Given the description of an element on the screen output the (x, y) to click on. 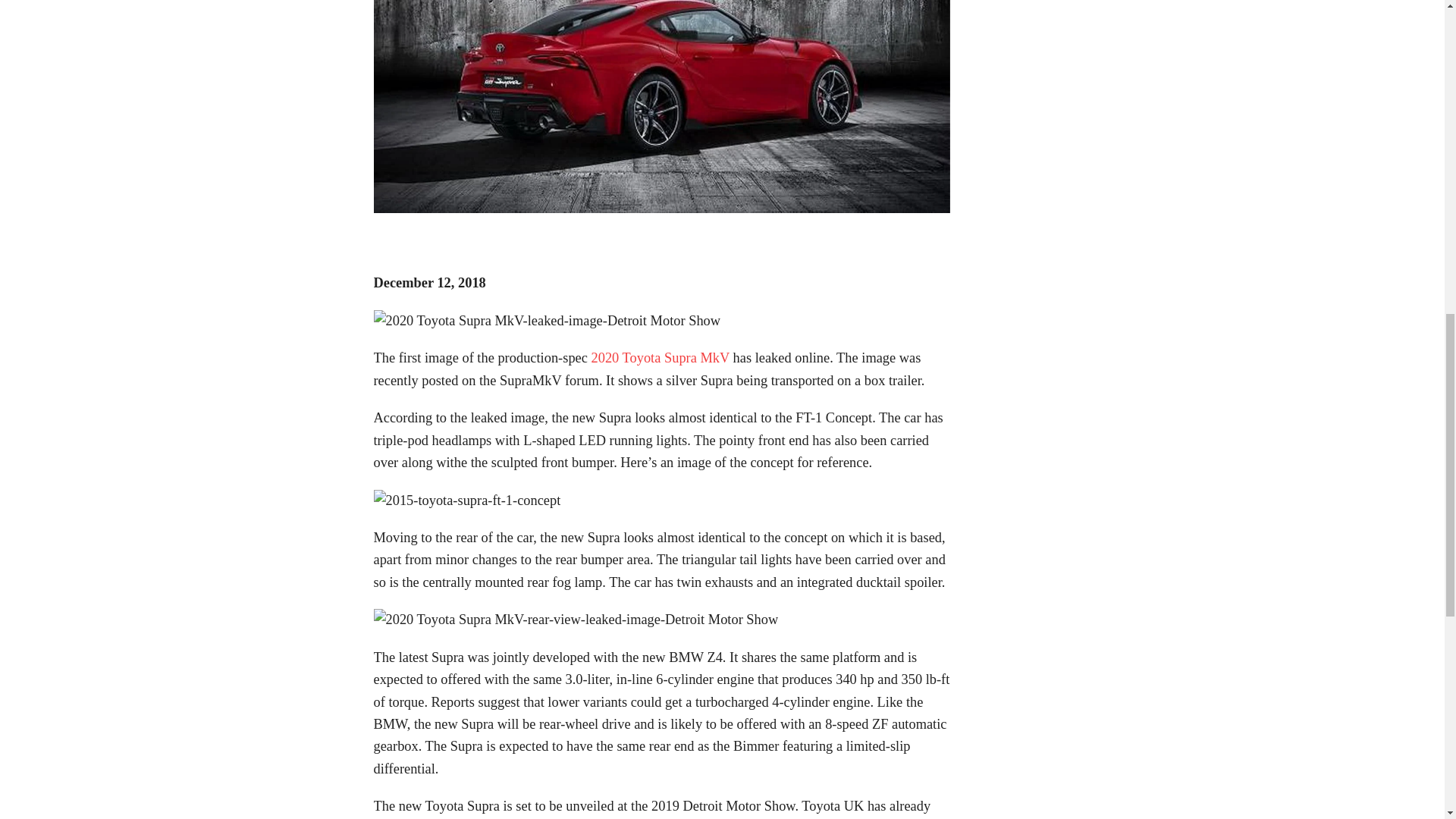
2020 Toyota Supra MkV (660, 357)
